Given the description of an element on the screen output the (x, y) to click on. 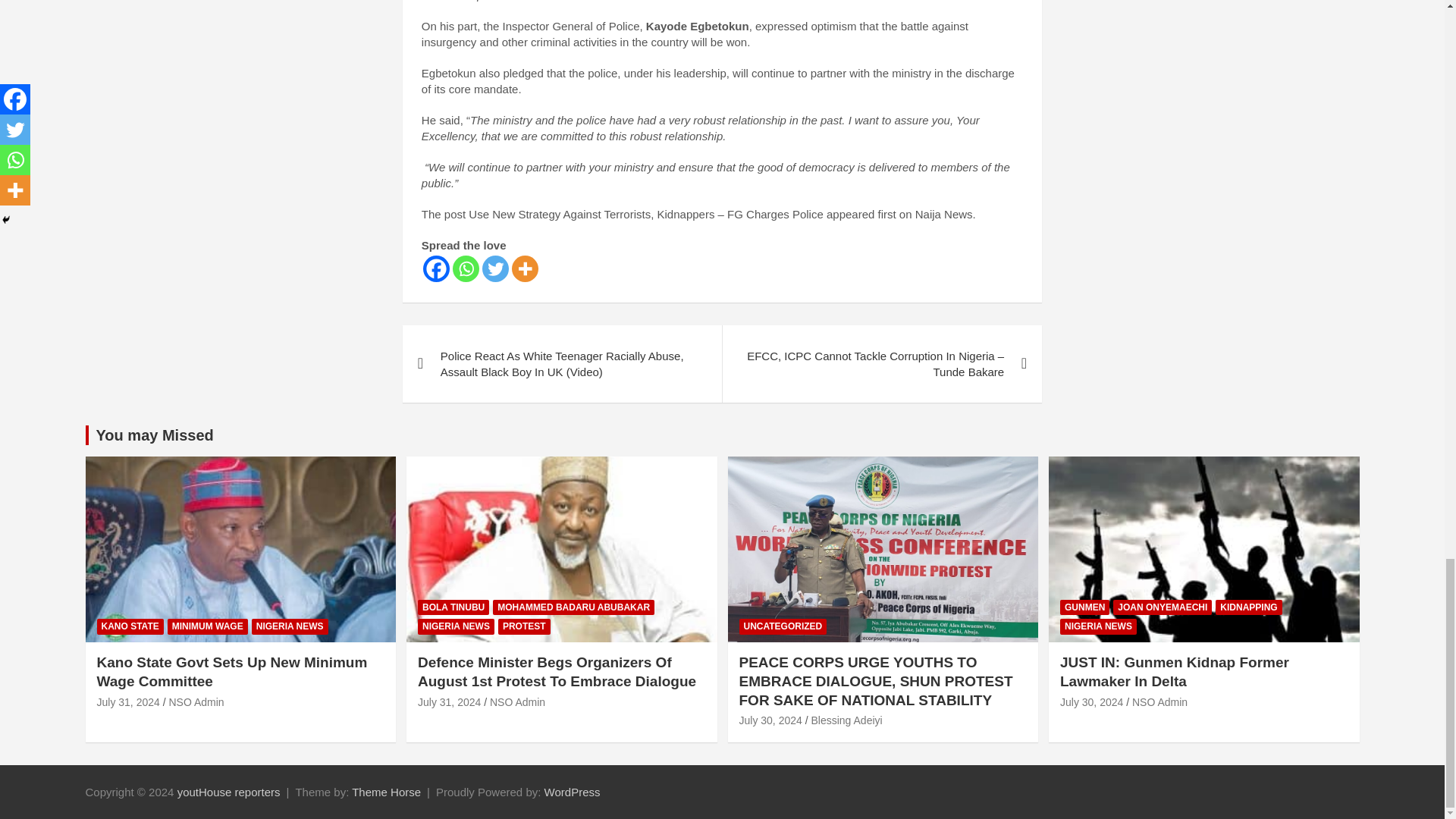
Kano State Govt Sets Up New Minimum Wage Committee (232, 671)
JUST IN: Gunmen Kidnap Former Lawmaker In Delta (1090, 702)
July 31, 2024 (128, 702)
Facebook (436, 268)
You may Missed (154, 434)
More (525, 268)
MINIMUM WAGE (207, 626)
NSO Admin (196, 702)
BOLA TINUBU (453, 607)
KANO STATE (130, 626)
Whatsapp (465, 268)
NIGERIA NEWS (290, 626)
Twitter (494, 268)
